Given the description of an element on the screen output the (x, y) to click on. 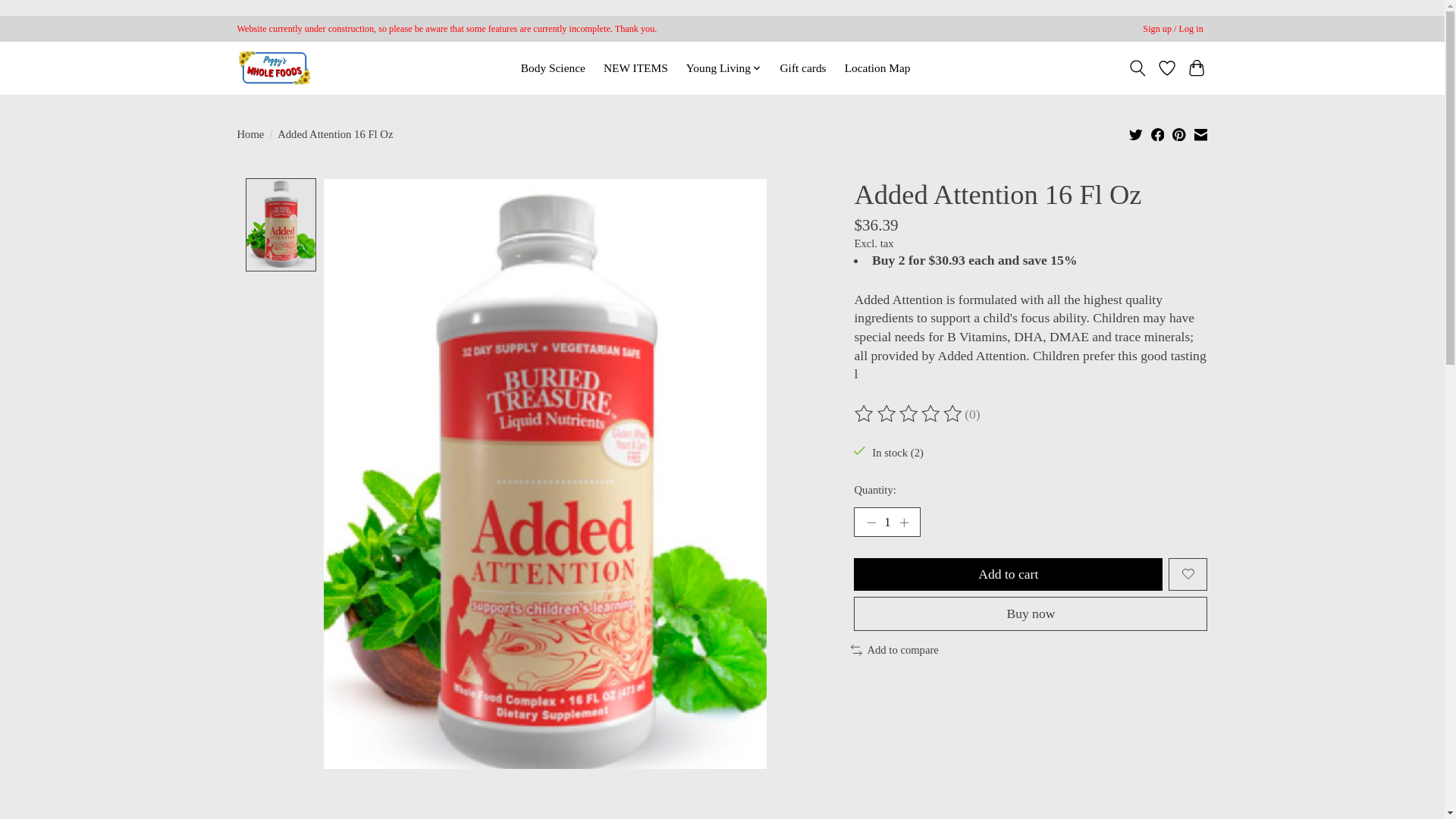
Share on Facebook (1157, 133)
Body Science (553, 67)
Buy now (1030, 613)
NEW ITEMS (635, 67)
Location Map (876, 67)
My account (1173, 28)
Share by Email (1200, 136)
Share by Email (1200, 133)
Share on Facebook (1157, 136)
Young Living (724, 67)
Peggy's Whole Foods (273, 67)
Share on Twitter (1135, 133)
Share on Pinterest (1178, 133)
1 (886, 521)
Share on Twitter (1135, 136)
